Given the description of an element on the screen output the (x, y) to click on. 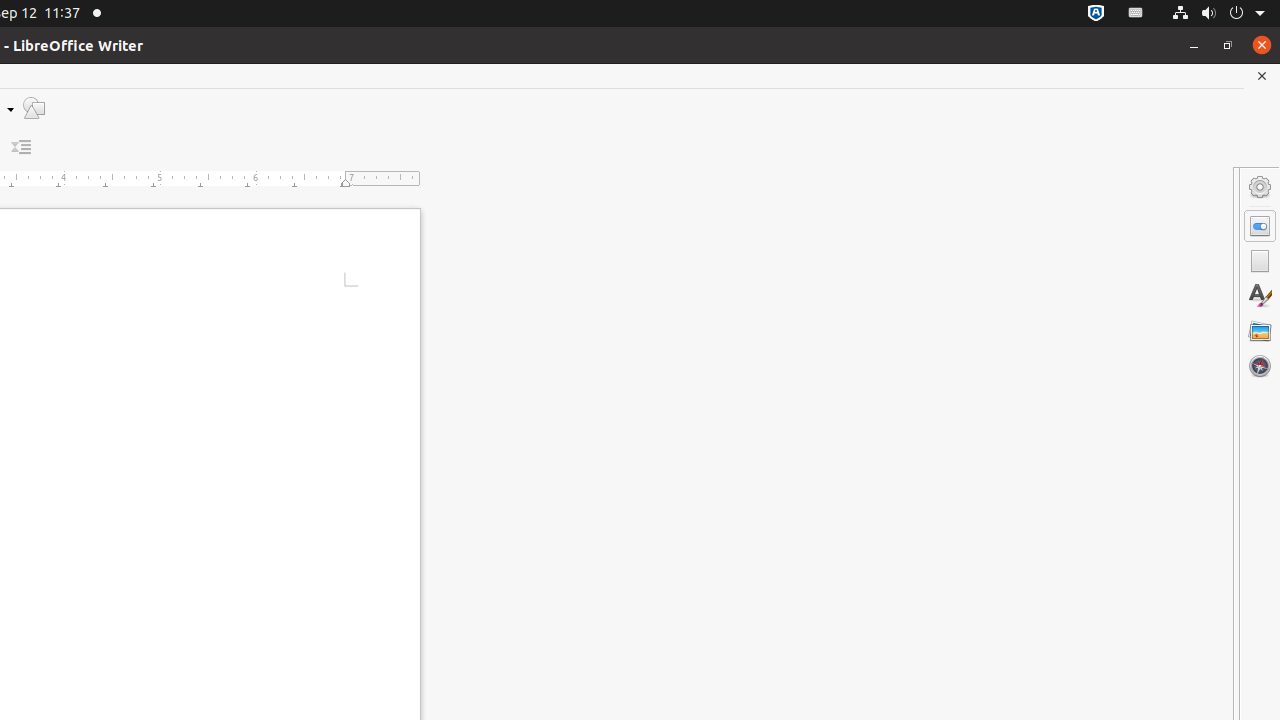
Navigator Element type: radio-button (1260, 366)
Draw Functions Element type: push-button (33, 108)
org.kde.StatusNotifierItem-14077-1 Element type: menu (1136, 13)
System Element type: menu (1218, 13)
Gallery Element type: radio-button (1260, 331)
